Given the description of an element on the screen output the (x, y) to click on. 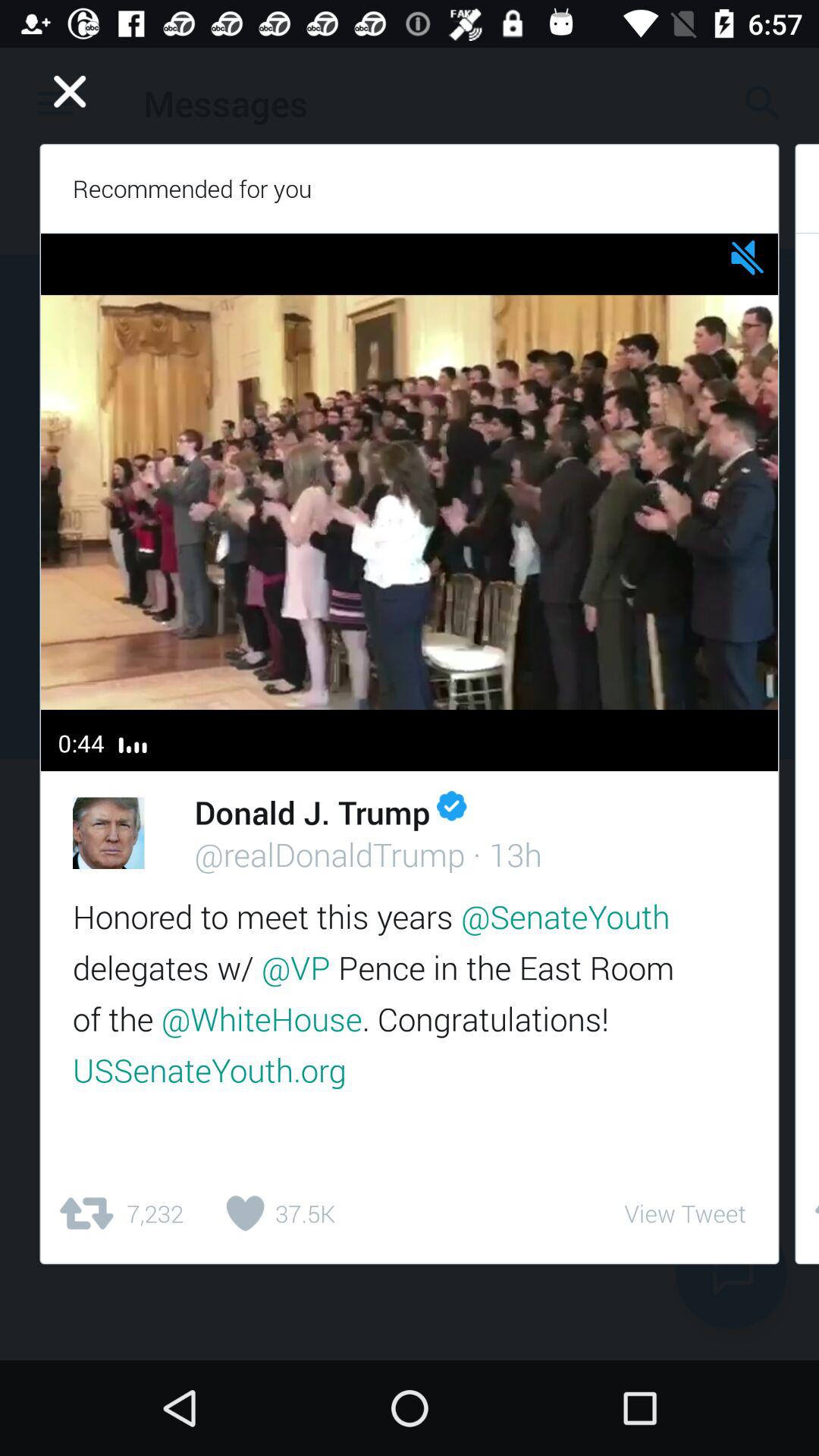
select the 2,986 item (807, 1213)
